Given the description of an element on the screen output the (x, y) to click on. 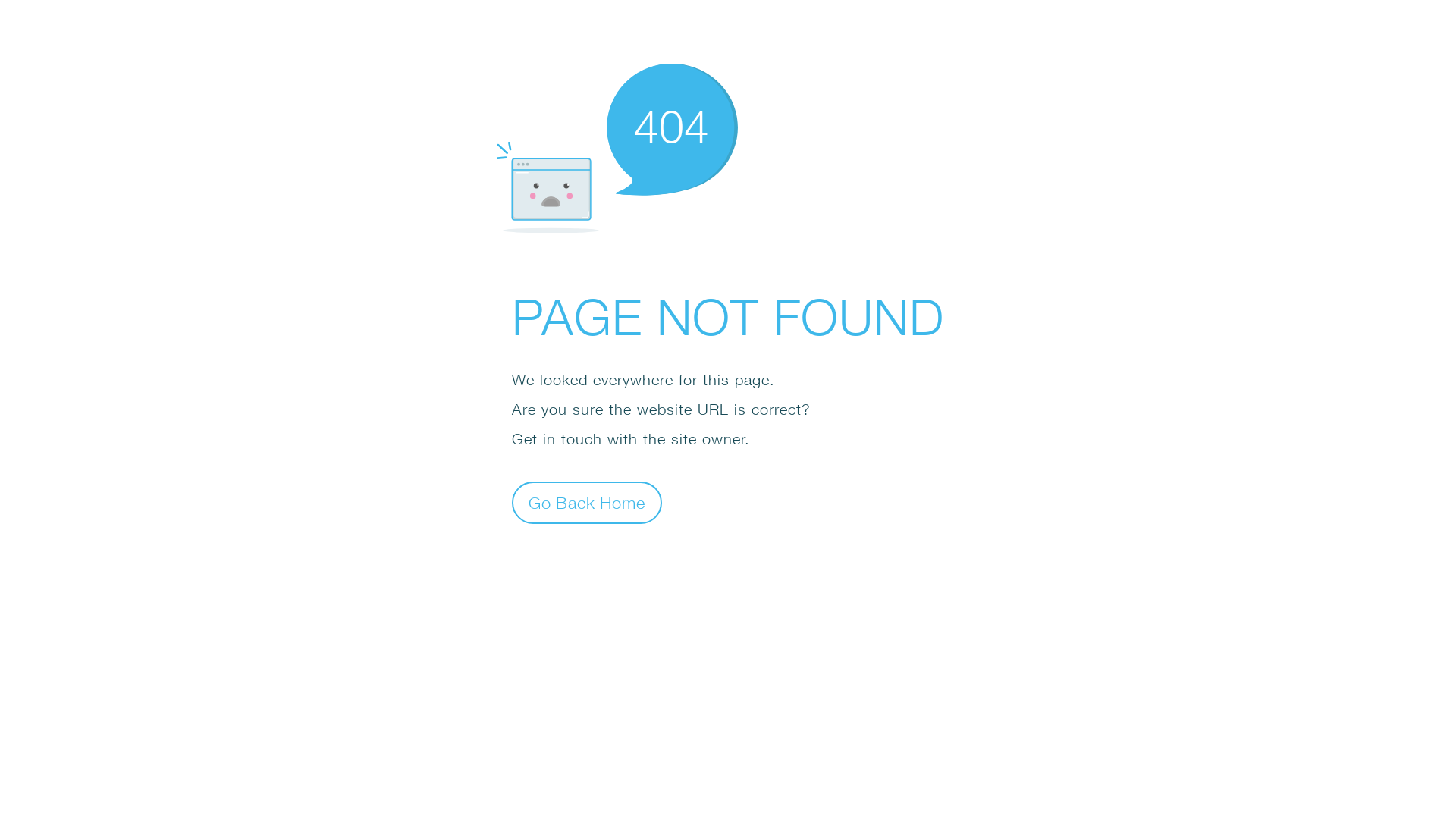
Go Back Home Element type: text (586, 502)
